Given the description of an element on the screen output the (x, y) to click on. 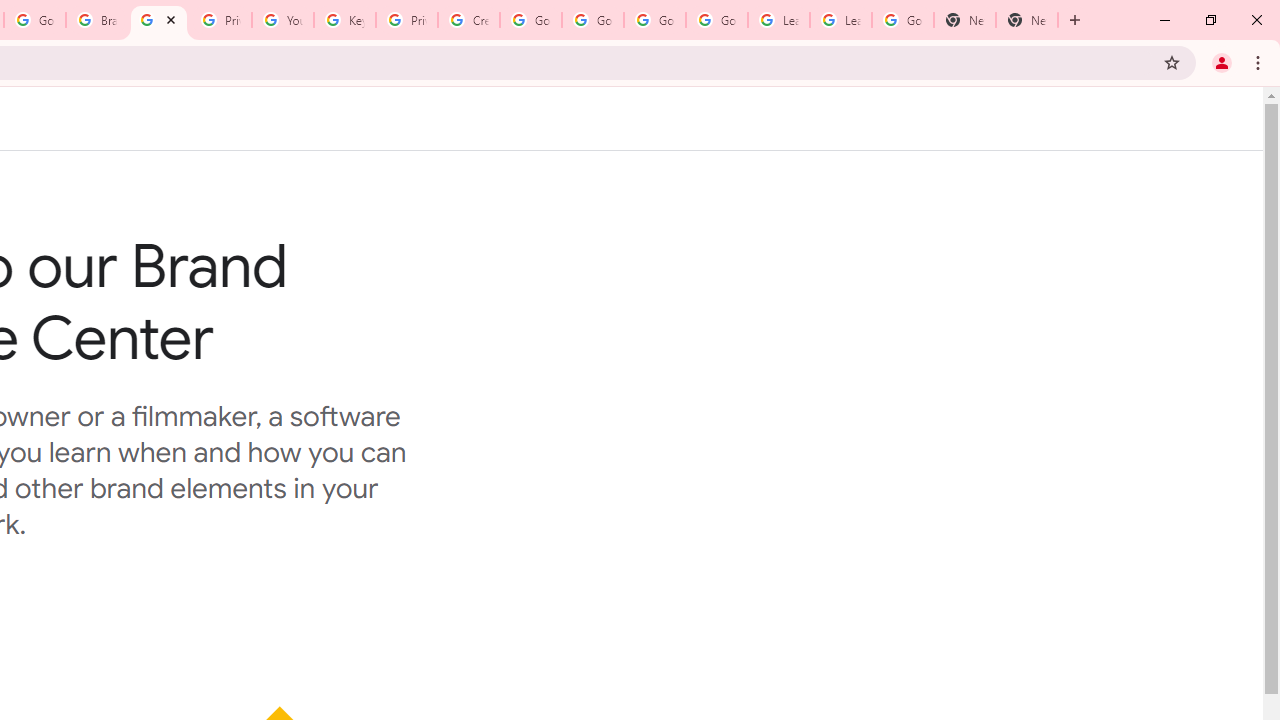
Google Account Help (716, 20)
Google Account Help (592, 20)
New Tab (1026, 20)
Chrome (1260, 62)
New Tab (1075, 20)
Brand Resource Center (96, 20)
